Given the description of an element on the screen output the (x, y) to click on. 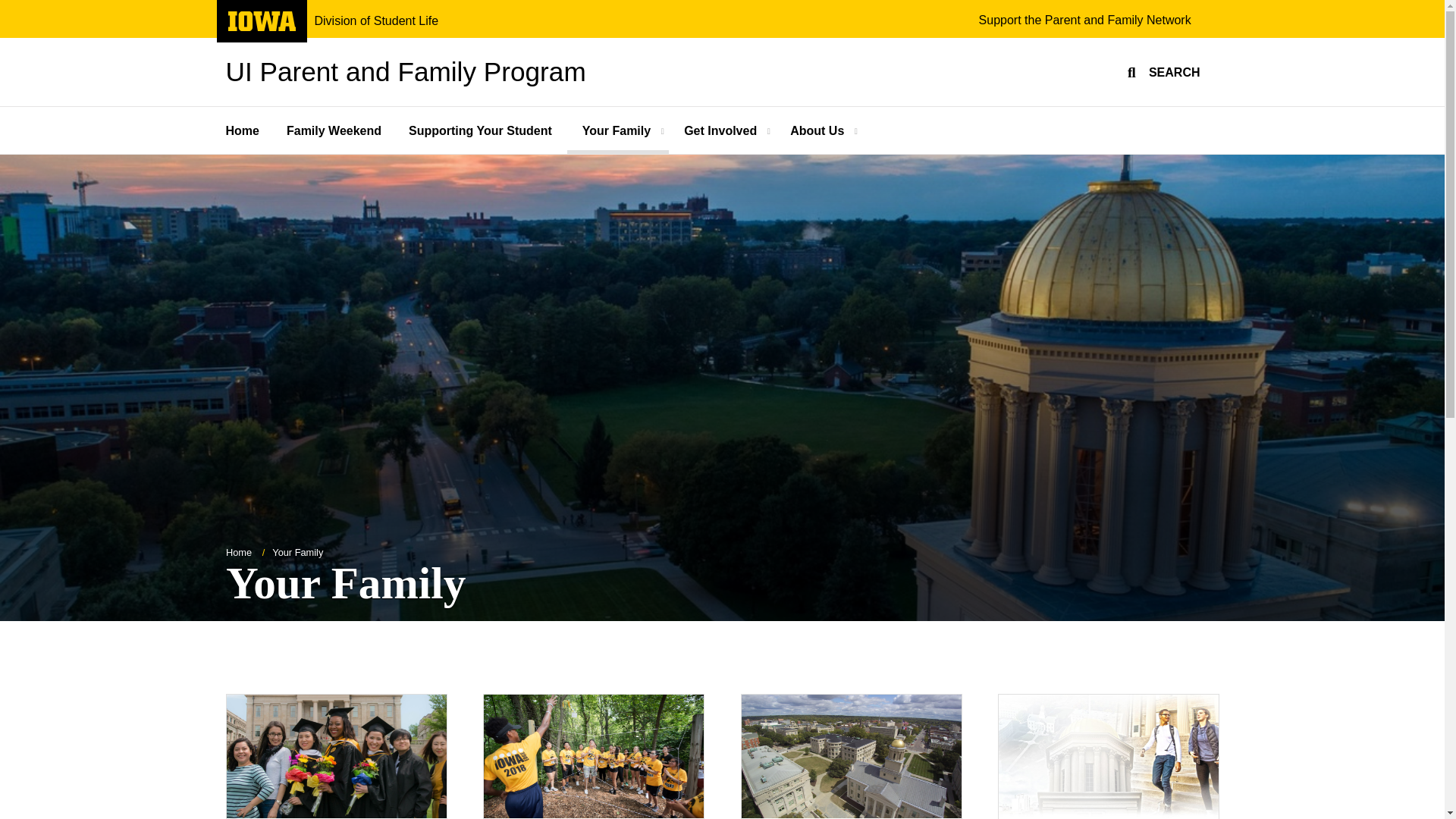
SEARCH (1162, 71)
Get Involved (721, 130)
Family Weekend (335, 130)
UI Parent and Family Program (261, 26)
Support the Parent and Family Network (405, 71)
Home (1085, 20)
About Us (250, 130)
Division of Student Life (817, 130)
University of Iowa (376, 20)
